Given the description of an element on the screen output the (x, y) to click on. 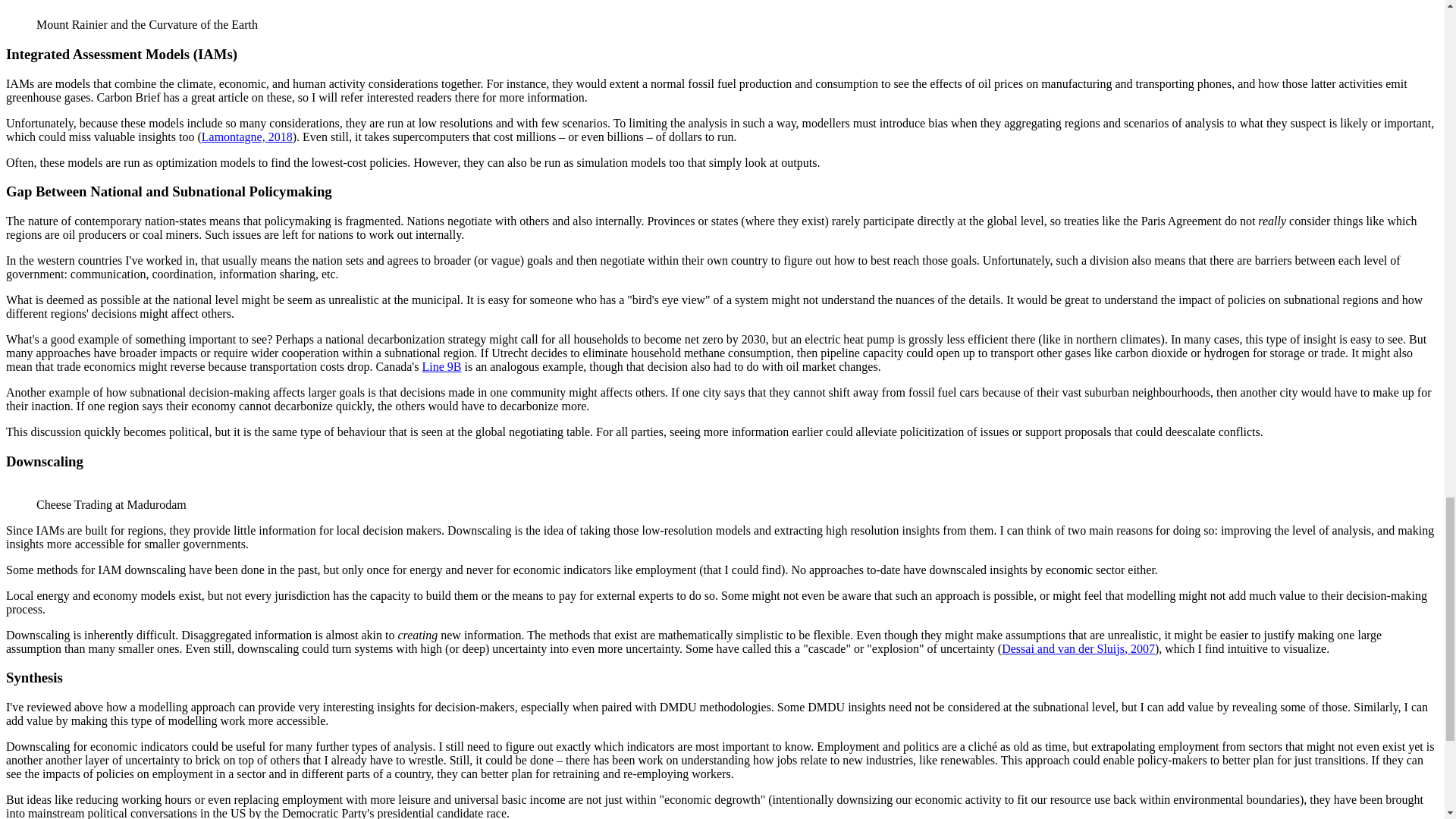
Lamontagne, 2018 (247, 136)
Line 9B (441, 366)
Dessai and van der Sluijs, 2007 (1077, 647)
